Given the description of an element on the screen output the (x, y) to click on. 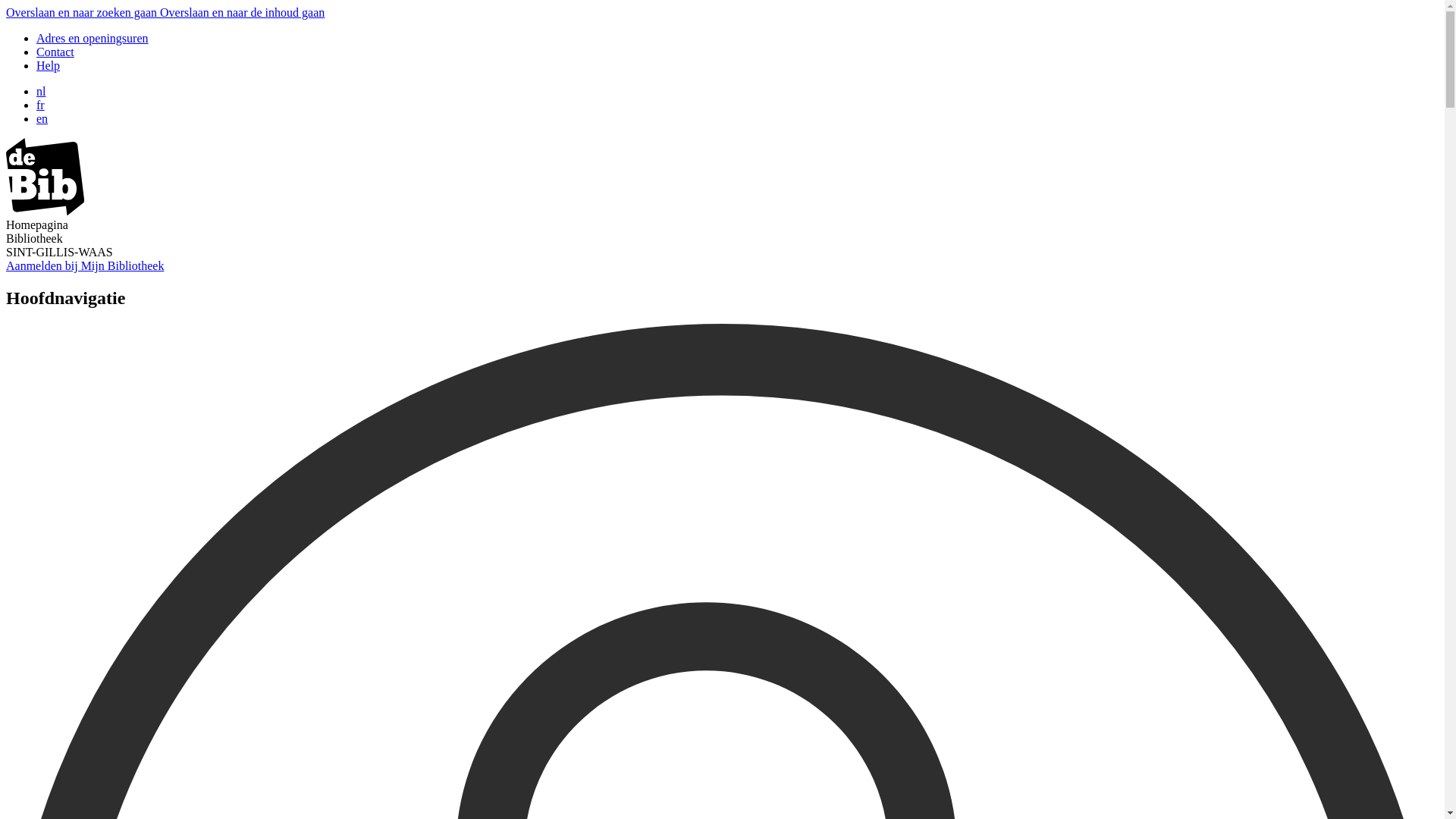
Help Element type: text (47, 65)
Aanmelden bij Mijn Bibliotheek Element type: text (84, 265)
image/svg+xml Element type: text (45, 210)
Overslaan en naar de inhoud gaan Element type: text (242, 12)
Contact Element type: text (55, 51)
en Element type: text (41, 118)
nl Element type: text (40, 90)
fr Element type: text (40, 104)
Overslaan en naar zoeken gaan Element type: text (83, 12)
Adres en openingsuren Element type: text (92, 37)
